Given the description of an element on the screen output the (x, y) to click on. 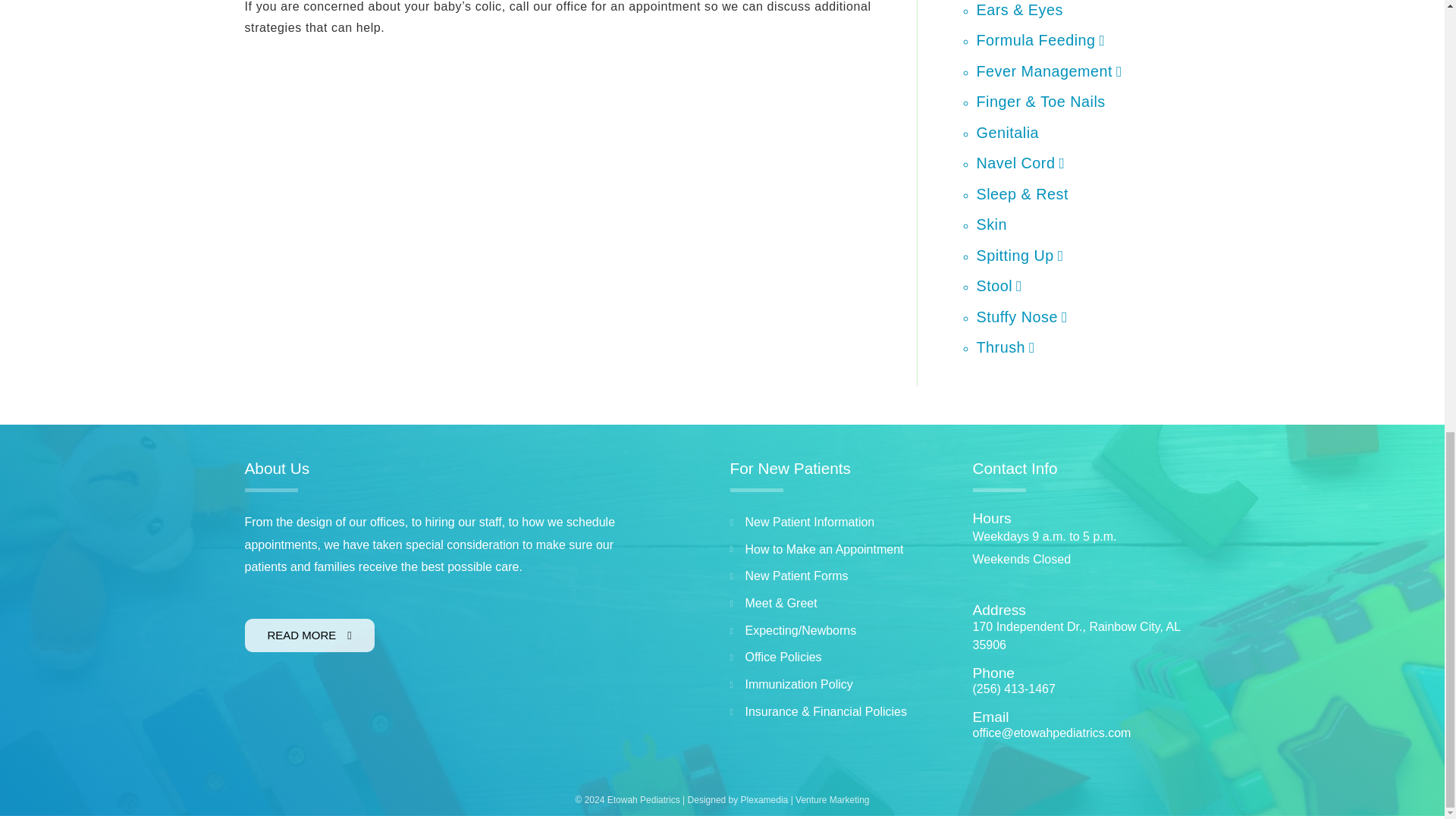
Fever Management (1049, 71)
Skin (991, 224)
Formula Feeding (1040, 39)
Navel Cord (1020, 162)
Spitting Up (1020, 255)
Stool (999, 285)
Genitalia (1007, 132)
